Given the description of an element on the screen output the (x, y) to click on. 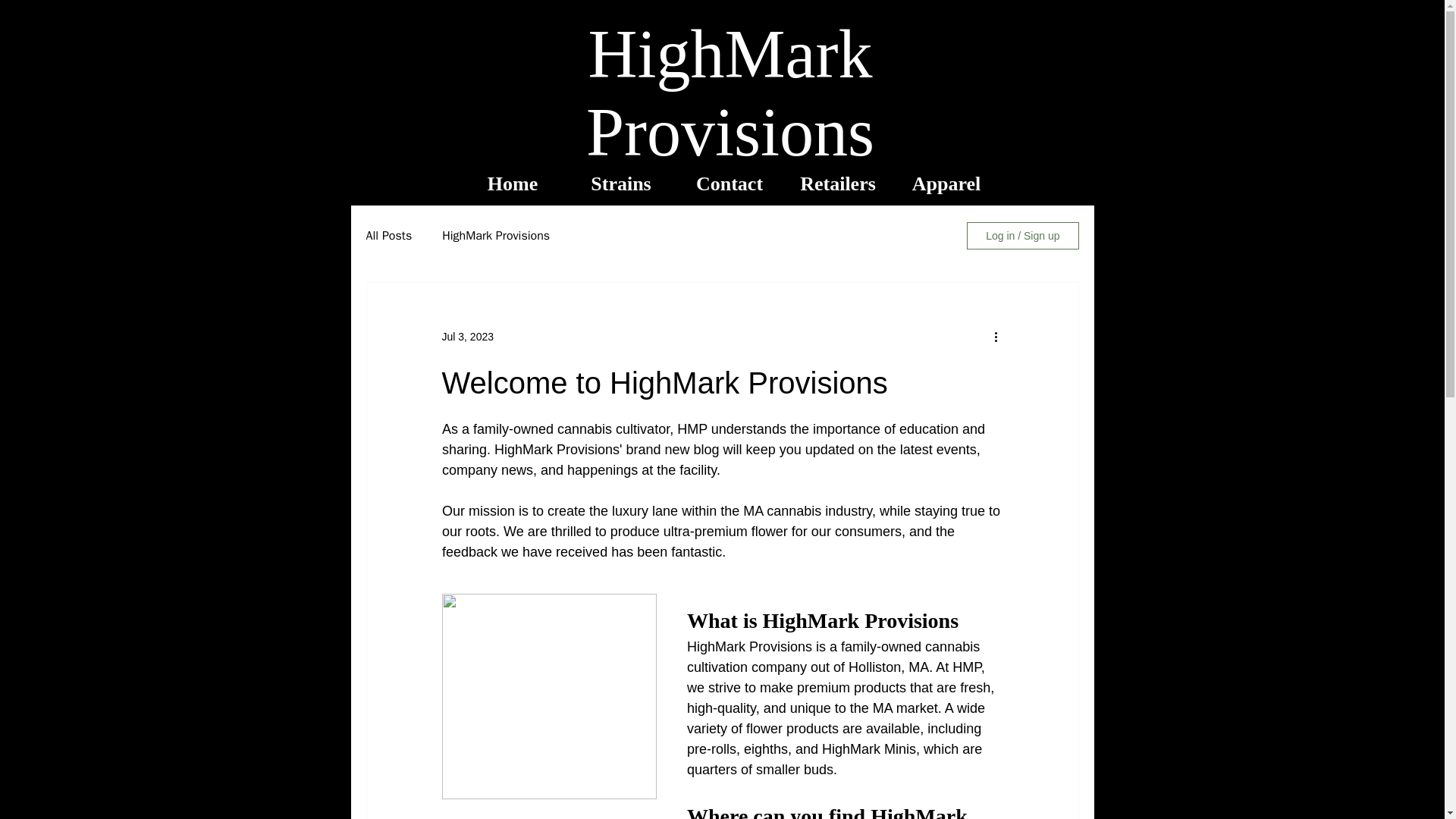
Home (512, 183)
Contact (729, 183)
Retailers (838, 183)
Apparel (945, 183)
Strains (621, 183)
Jul 3, 2023 (467, 336)
HighMark Provisions (730, 92)
All Posts (388, 235)
HighMark Provisions (496, 235)
